Given the description of an element on the screen output the (x, y) to click on. 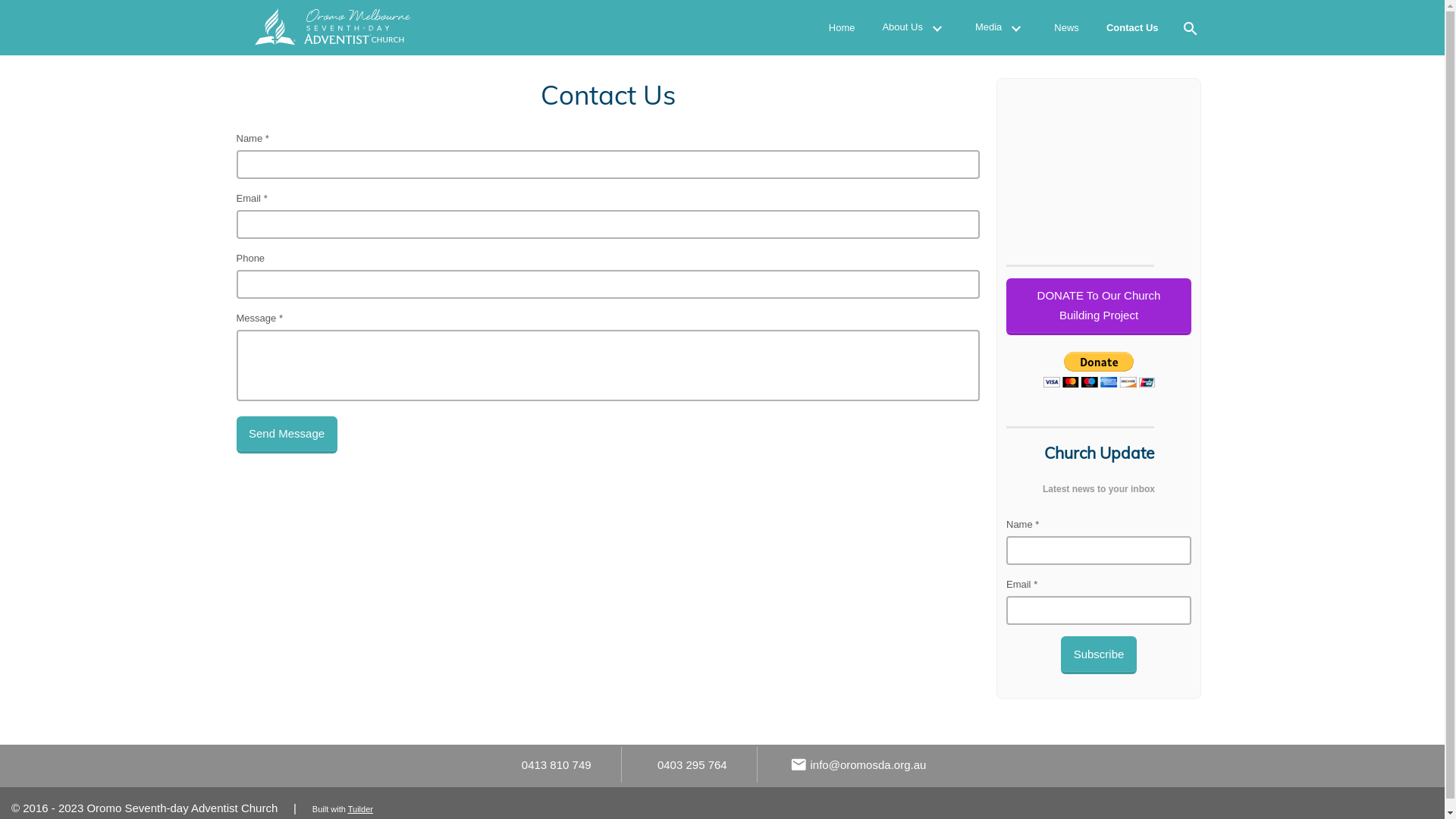
Search this site Element type: hover (1188, 27)
Oromo Seventh-day Adventist Church Element type: hover (362, 27)
DONATE To Our Church Building Project Element type: text (1098, 306)
Send Message Element type: text (286, 435)
News Element type: text (1066, 27)
0403 295 764 Element type: text (690, 764)
Home Element type: text (842, 27)
Subscribe Element type: text (1098, 655)
Media Element type: text (1000, 27)
Tuilder Element type: text (360, 808)
Contact Us Element type: text (1132, 27)
About Us Element type: text (914, 27)
0413 810 749 Element type: text (555, 764)
info@oromosda.org.au Element type: text (857, 765)
